Given the description of an element on the screen output the (x, y) to click on. 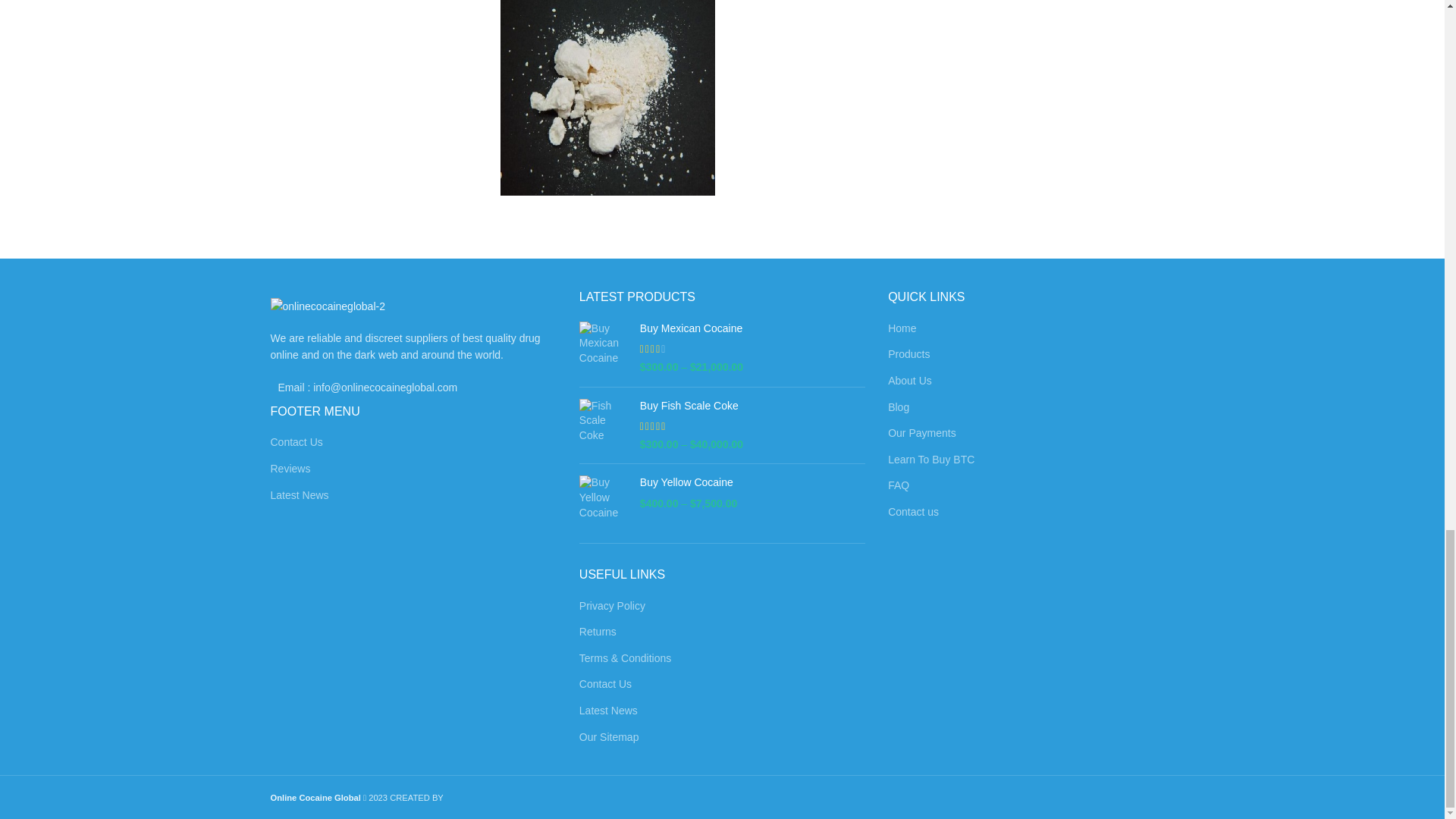
Buy Mexican Cocaine (752, 328)
Buy Mexican Cocaine (603, 348)
Buy Fish Scale Coke (603, 425)
Buy Fish Scale Coke (752, 406)
onlinecocaineglobal-2 (326, 306)
